Given the description of an element on the screen output the (x, y) to click on. 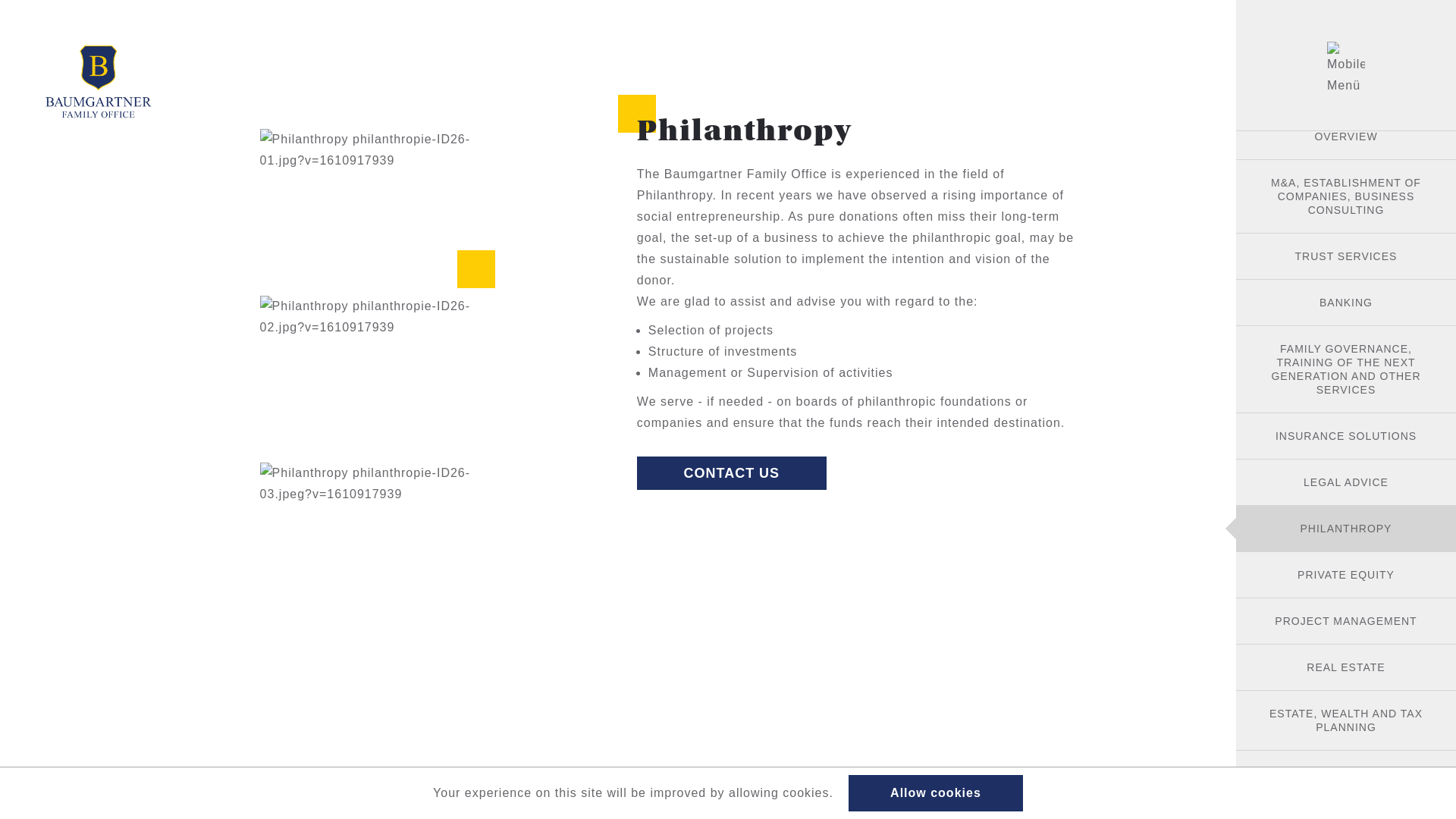
Allow cookies Element type: text (935, 793)
Baumgartner Family Office AG Webseite Element type: hover (98, 82)
CONTACT US Element type: text (731, 472)
